Given the description of an element on the screen output the (x, y) to click on. 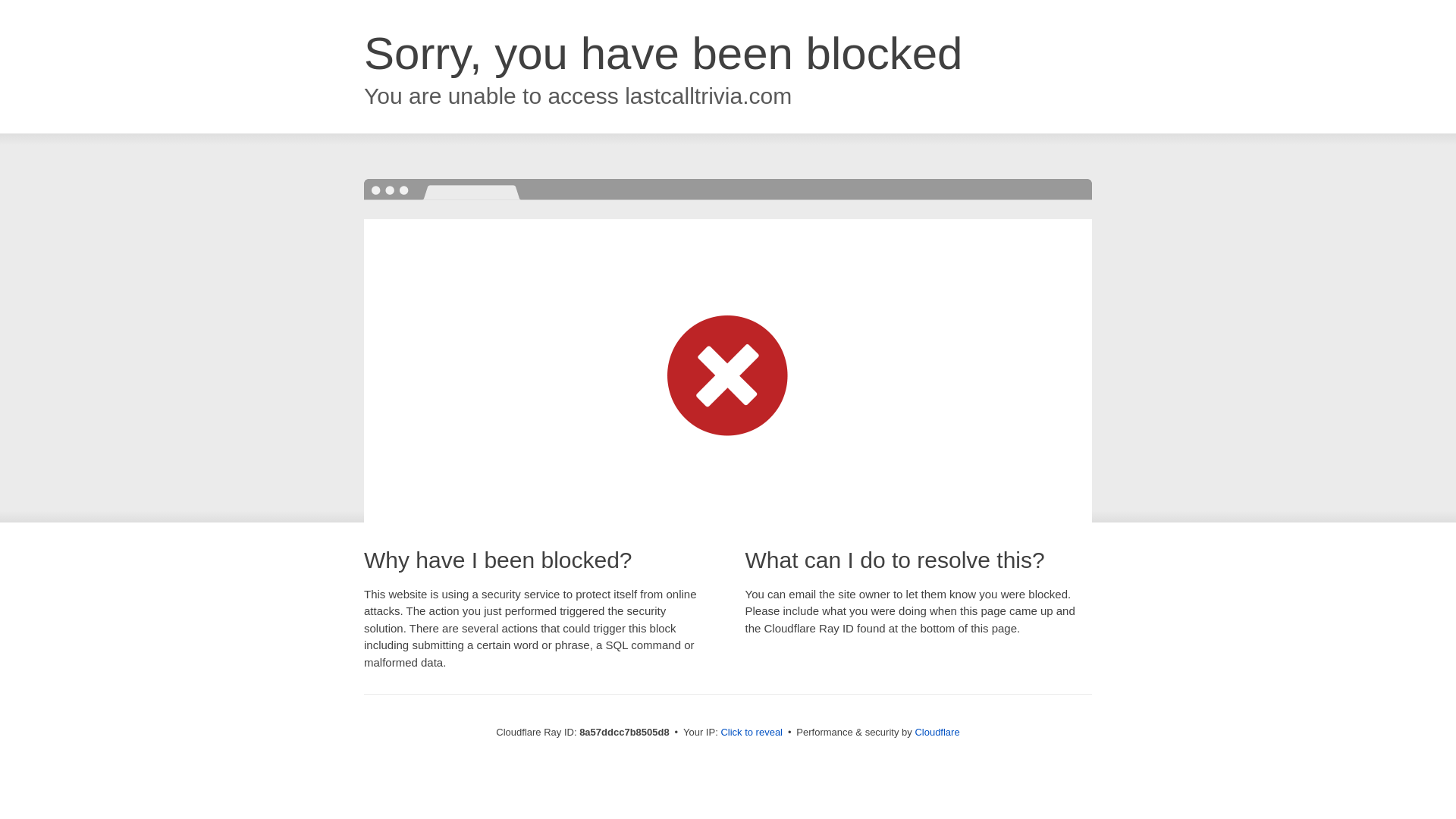
Click to reveal (751, 732)
Cloudflare (936, 731)
